Given the description of an element on the screen output the (x, y) to click on. 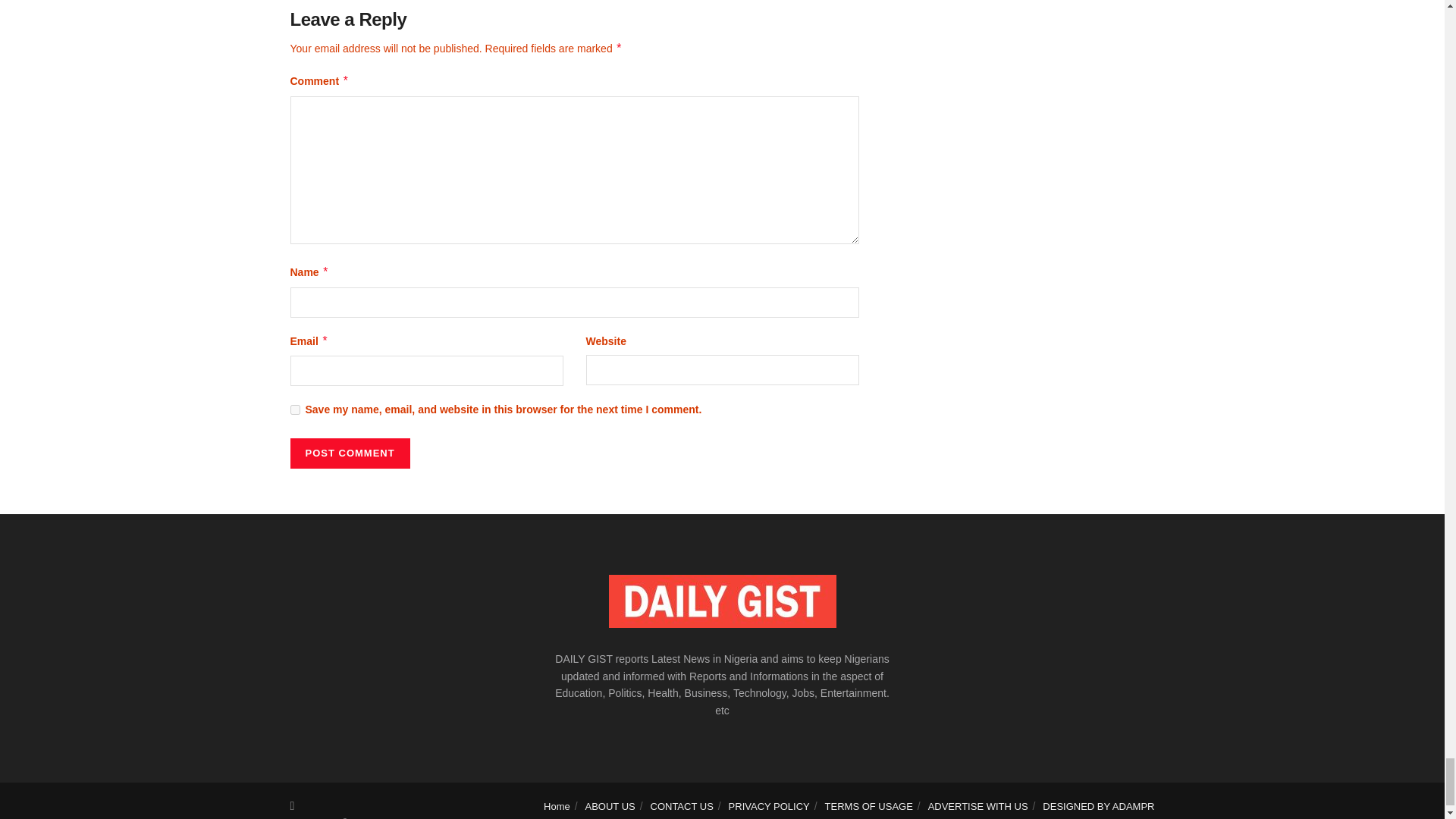
Post Comment (349, 453)
yes (294, 409)
